Given the description of an element on the screen output the (x, y) to click on. 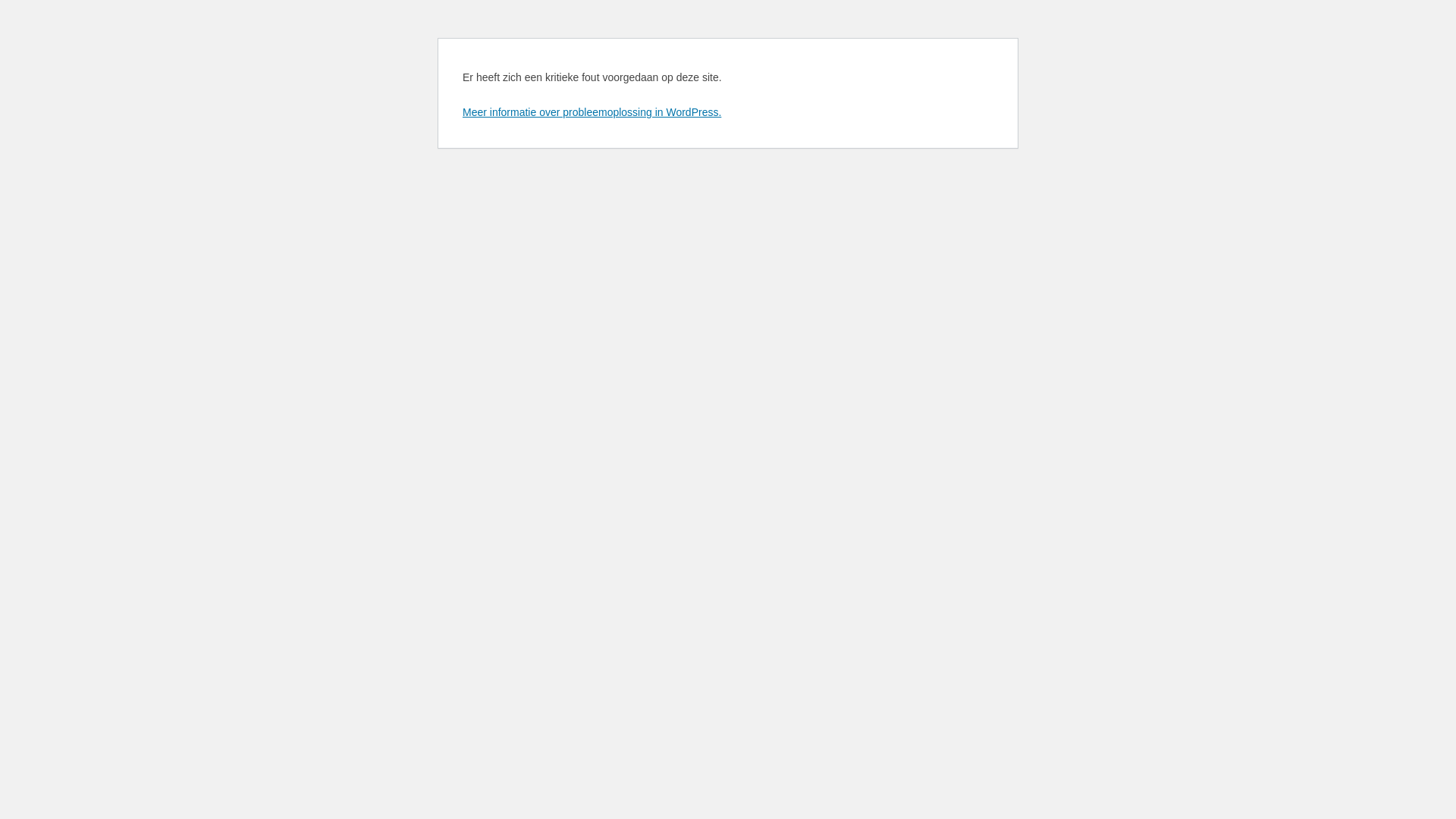
Meer informatie over probleemoplossing in WordPress. Element type: text (591, 112)
